Given the description of an element on the screen output the (x, y) to click on. 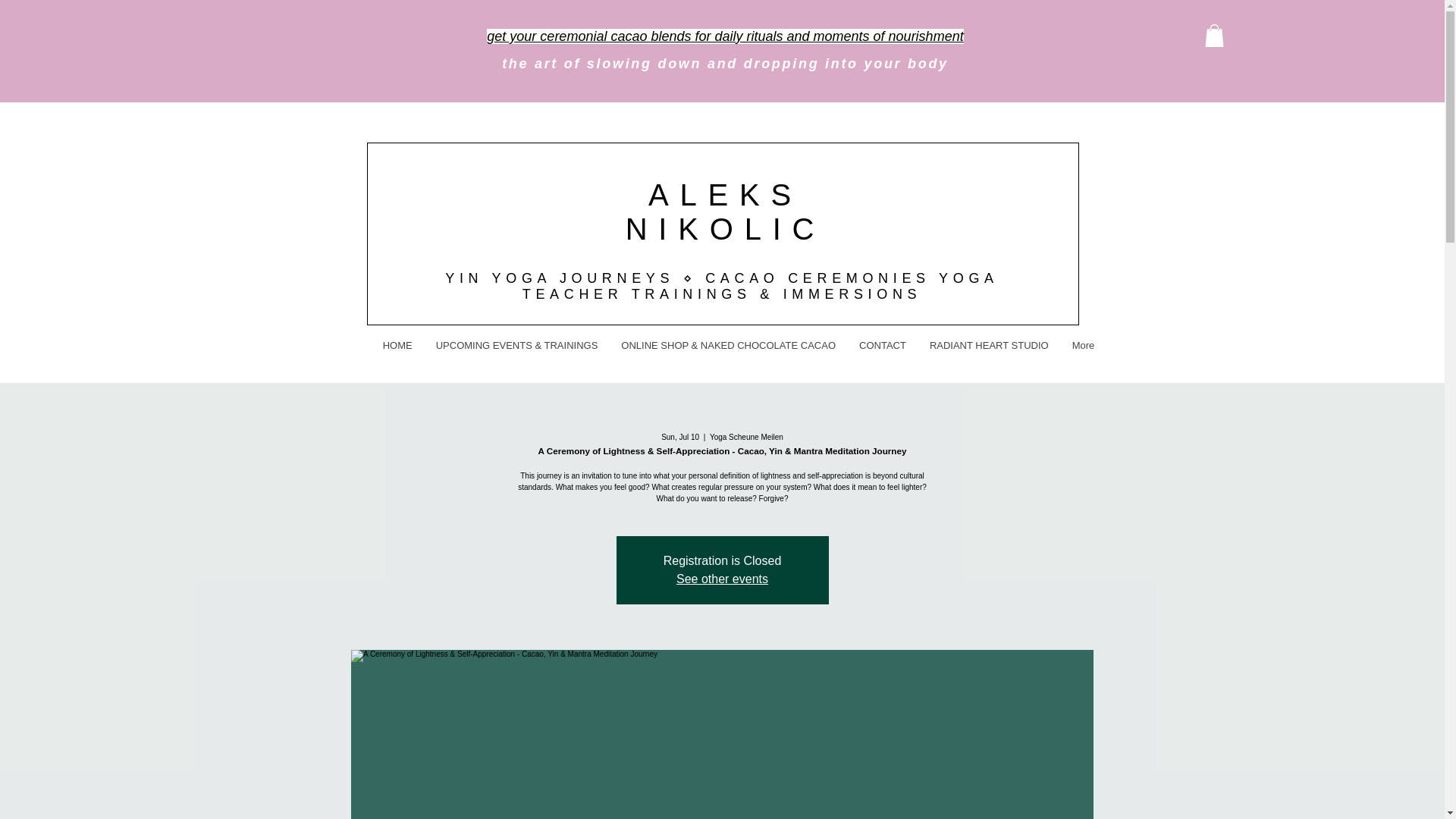
HOME (397, 355)
RADIANT HEART STUDIO (988, 355)
See other events (722, 578)
ALEKS (724, 194)
CONTACT (882, 355)
